Given the description of an element on the screen output the (x, y) to click on. 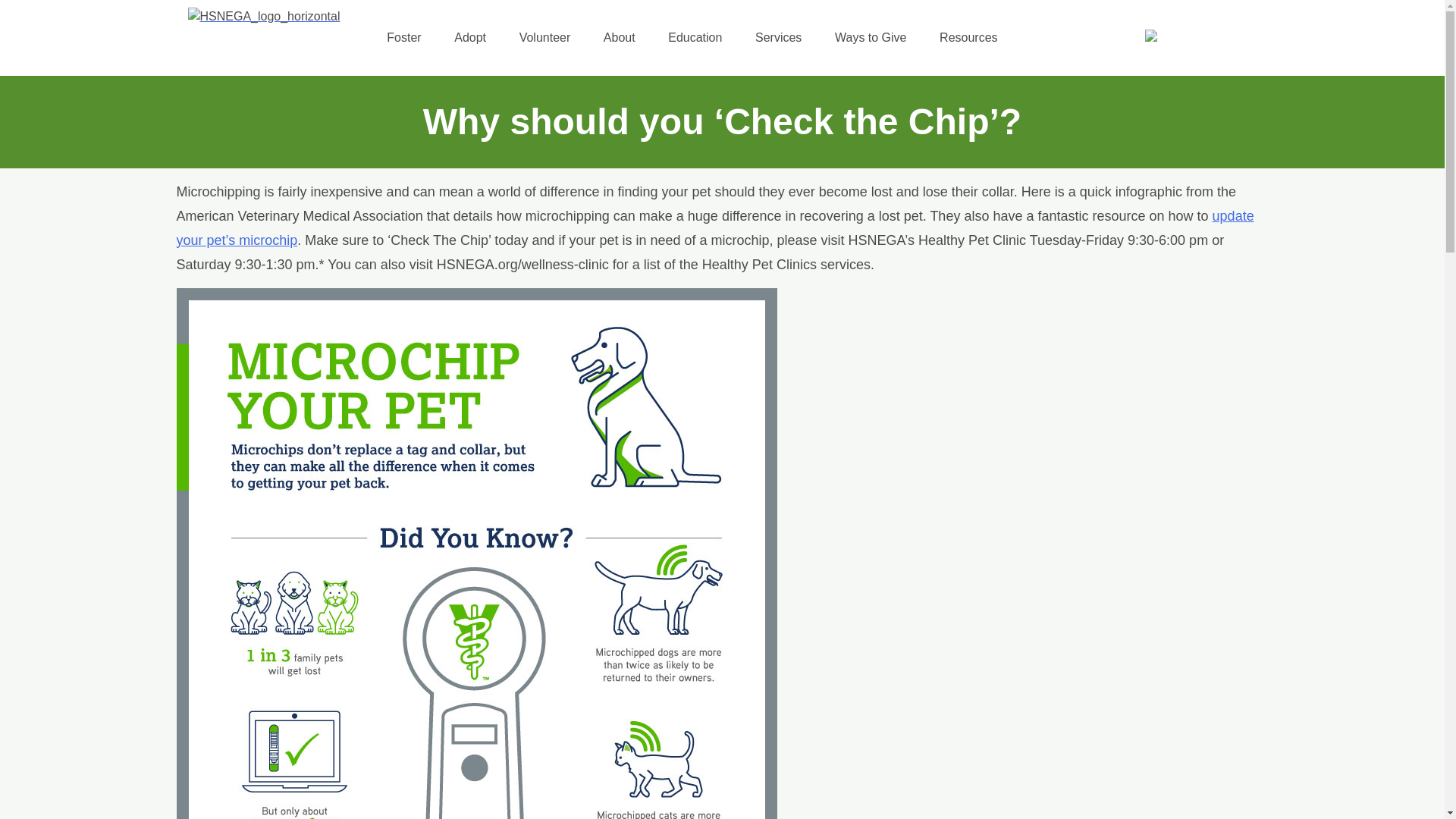
Education (695, 37)
Volunteer (544, 37)
Services (778, 37)
Foster (403, 37)
Adopt (470, 37)
About (619, 37)
